Given the description of an element on the screen output the (x, y) to click on. 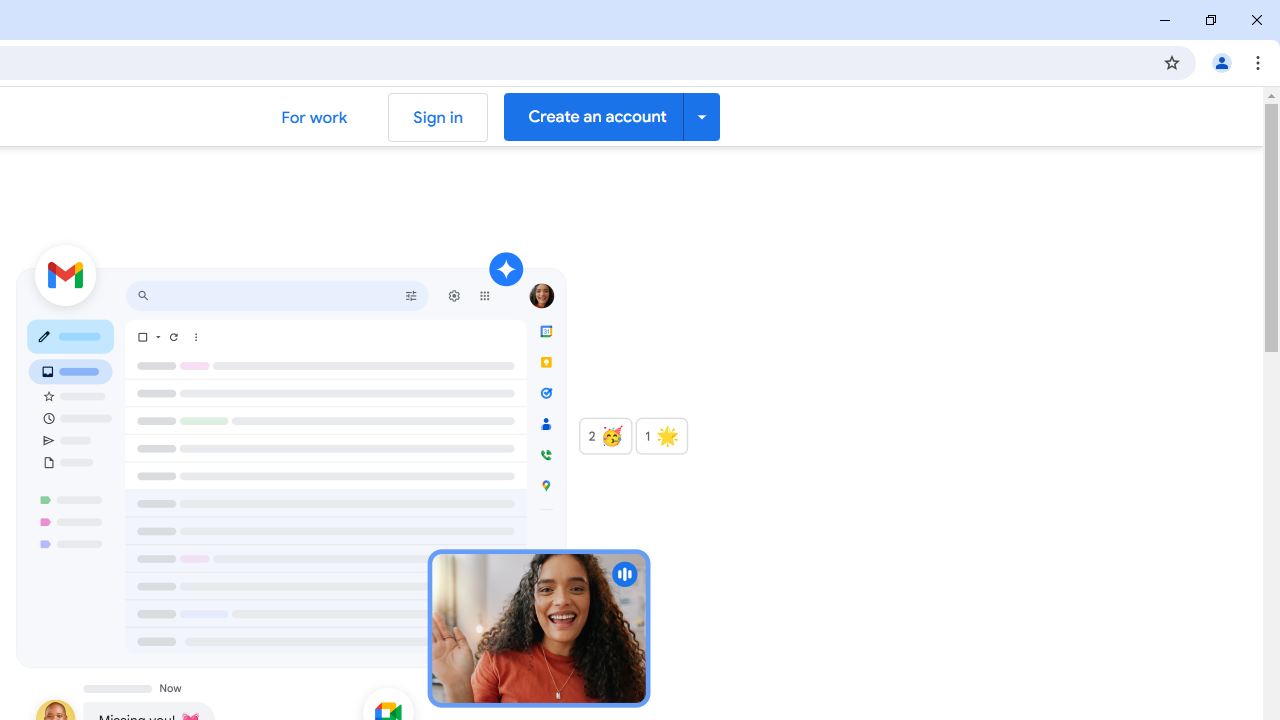
For work (314, 116)
Create an account (611, 116)
